Given the description of an element on the screen output the (x, y) to click on. 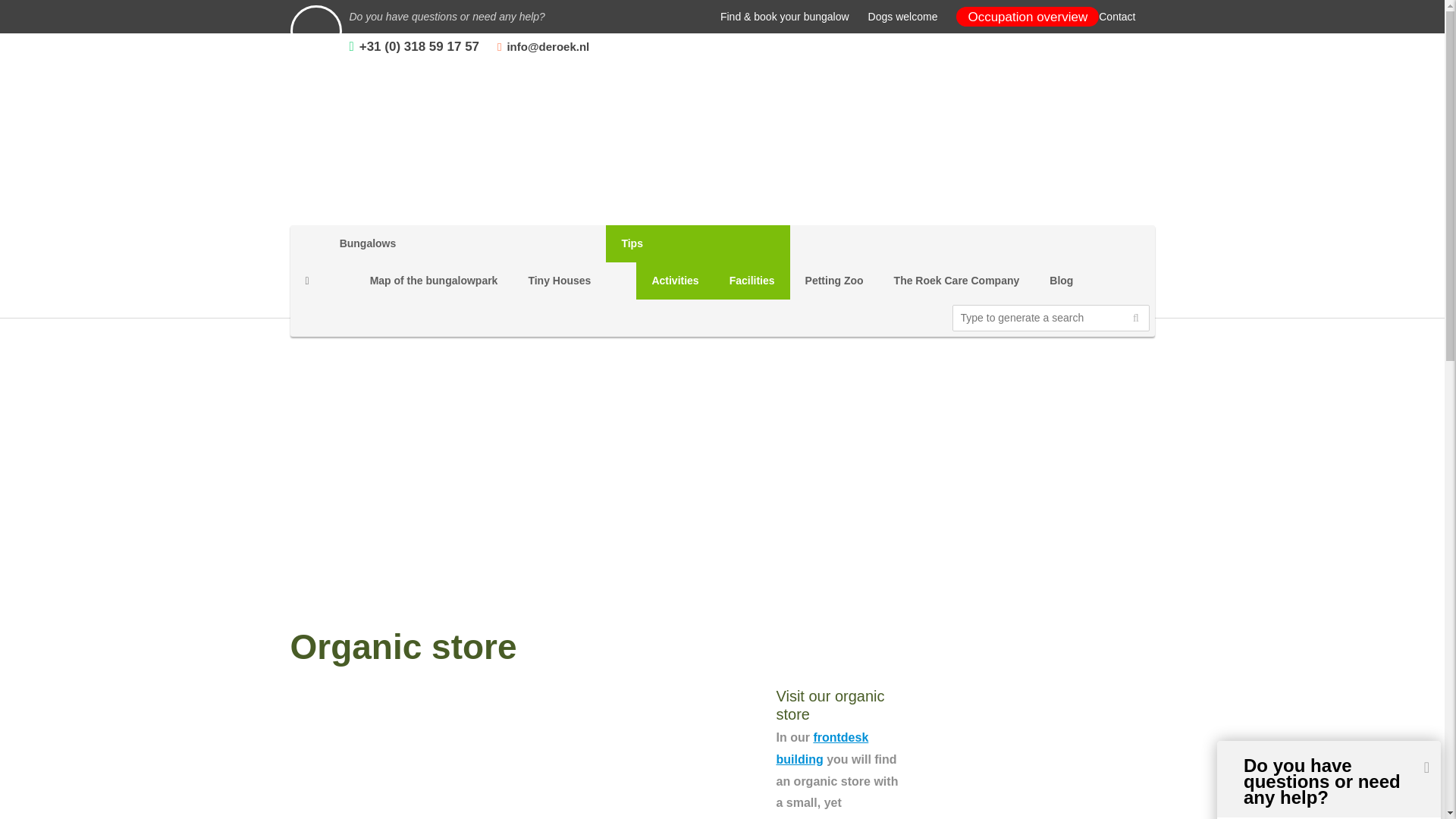
Bungalows (418, 243)
The Roek Care Company (957, 280)
Tiny Houses (558, 280)
Petting Zoo (834, 280)
Activities (674, 280)
Tips (697, 243)
Contact (1117, 16)
Facilities (752, 280)
Dogs welcome (902, 16)
Blog (1060, 280)
